Given the description of an element on the screen output the (x, y) to click on. 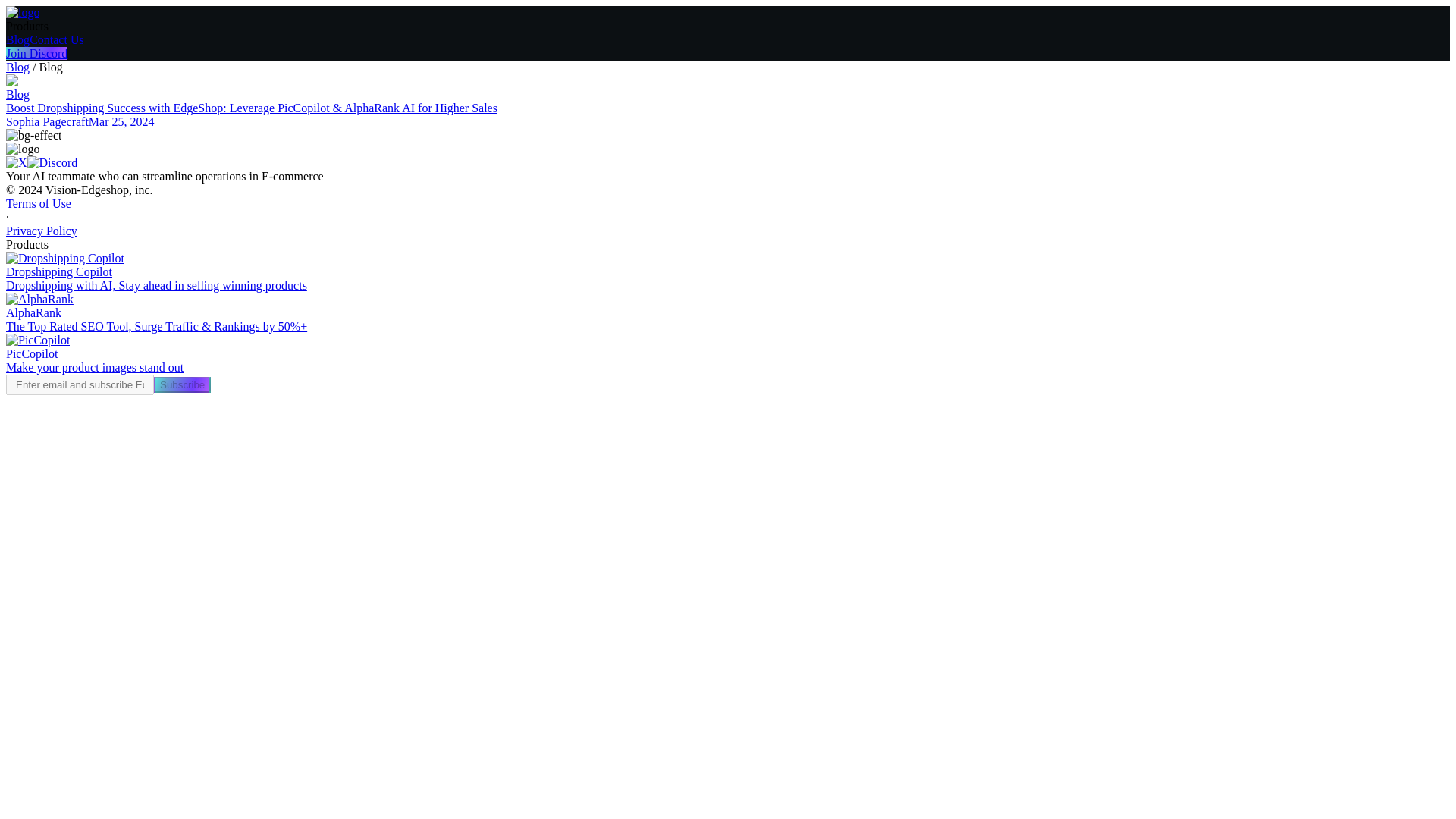
Contact Us (56, 39)
Join Discord (35, 52)
Blog (17, 39)
Blog (17, 66)
Terms of Use (38, 203)
Privacy Policy (41, 230)
